Given the description of an element on the screen output the (x, y) to click on. 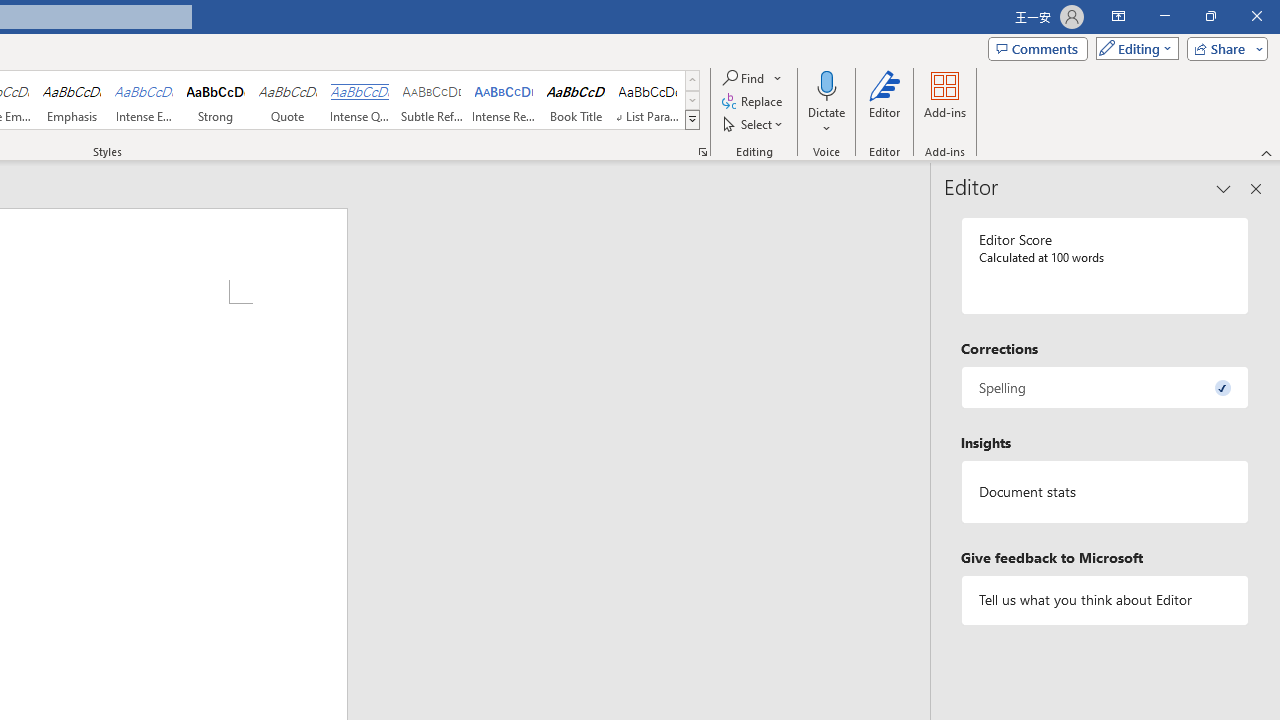
Subtle Reference (431, 100)
